Given the description of an element on the screen output the (x, y) to click on. 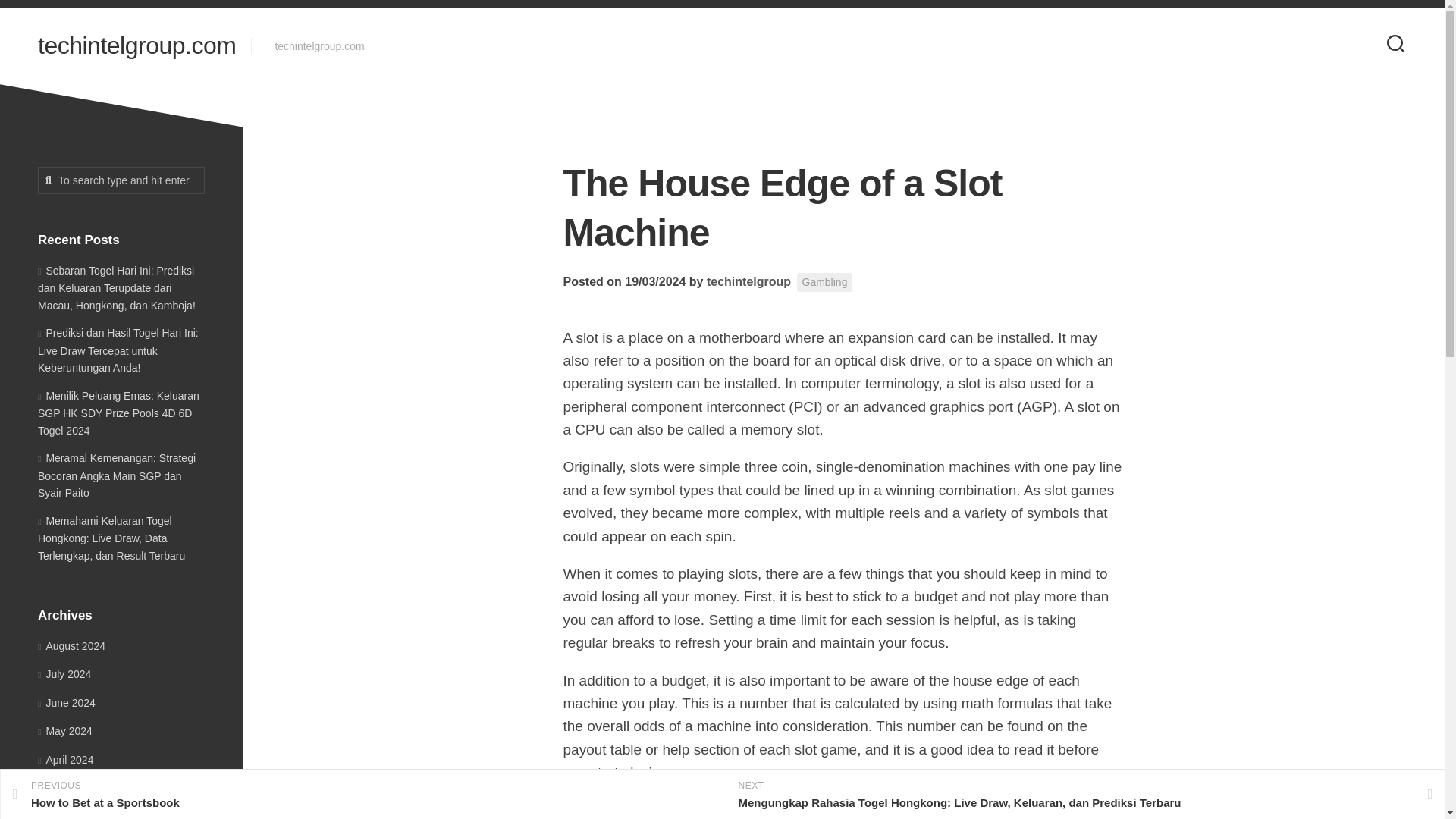
To search type and hit enter (121, 180)
August 2024 (70, 645)
May 2024 (361, 794)
To search type and hit enter (65, 730)
April 2024 (121, 180)
Posts by techintelgroup (65, 759)
July 2024 (748, 281)
June 2024 (63, 674)
